Given the description of an element on the screen output the (x, y) to click on. 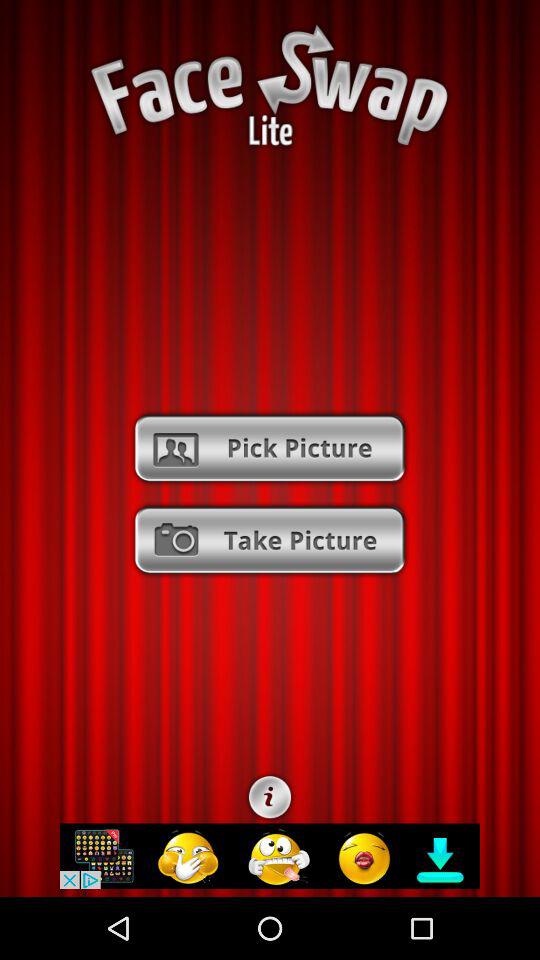
view more information (269, 797)
